Given the description of an element on the screen output the (x, y) to click on. 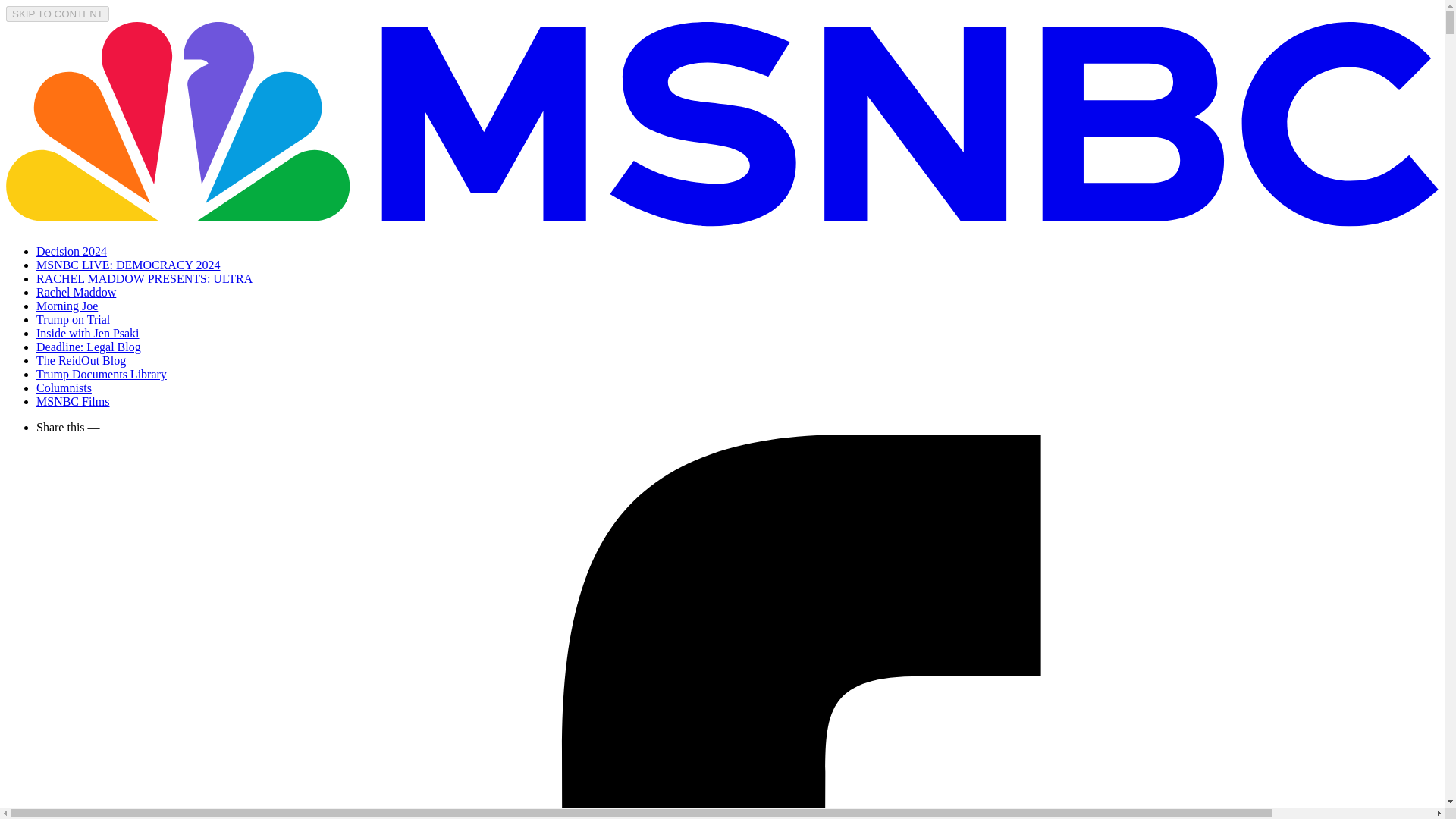
MSNBC Films (72, 400)
Inside with Jen Psaki (87, 332)
Deadline: Legal Blog (88, 346)
Columnists (63, 387)
Trump on Trial (73, 318)
MSNBC LIVE: DEMOCRACY 2024 (128, 264)
Trump Documents Library (101, 373)
Decision 2024 (71, 250)
